Given the description of an element on the screen output the (x, y) to click on. 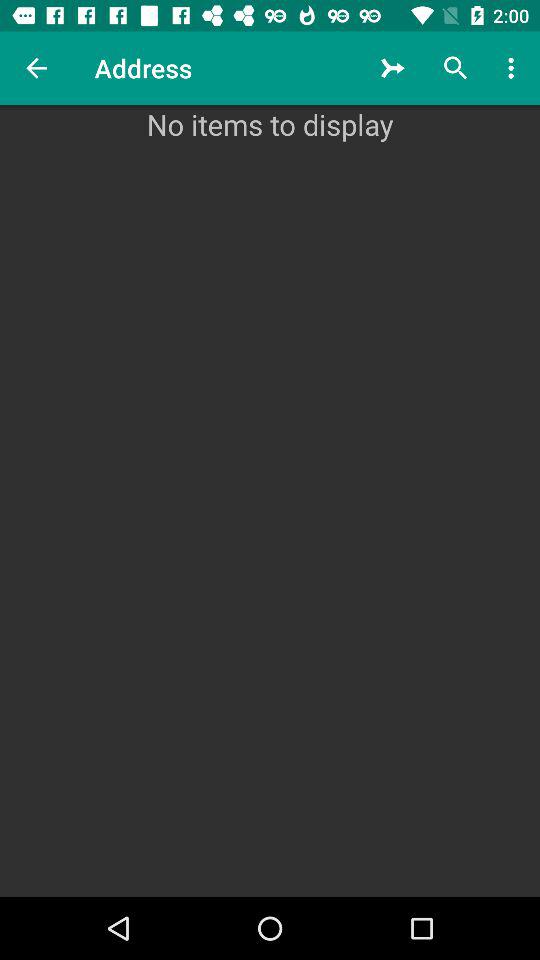
open icon to the right of address item (392, 67)
